Given the description of an element on the screen output the (x, y) to click on. 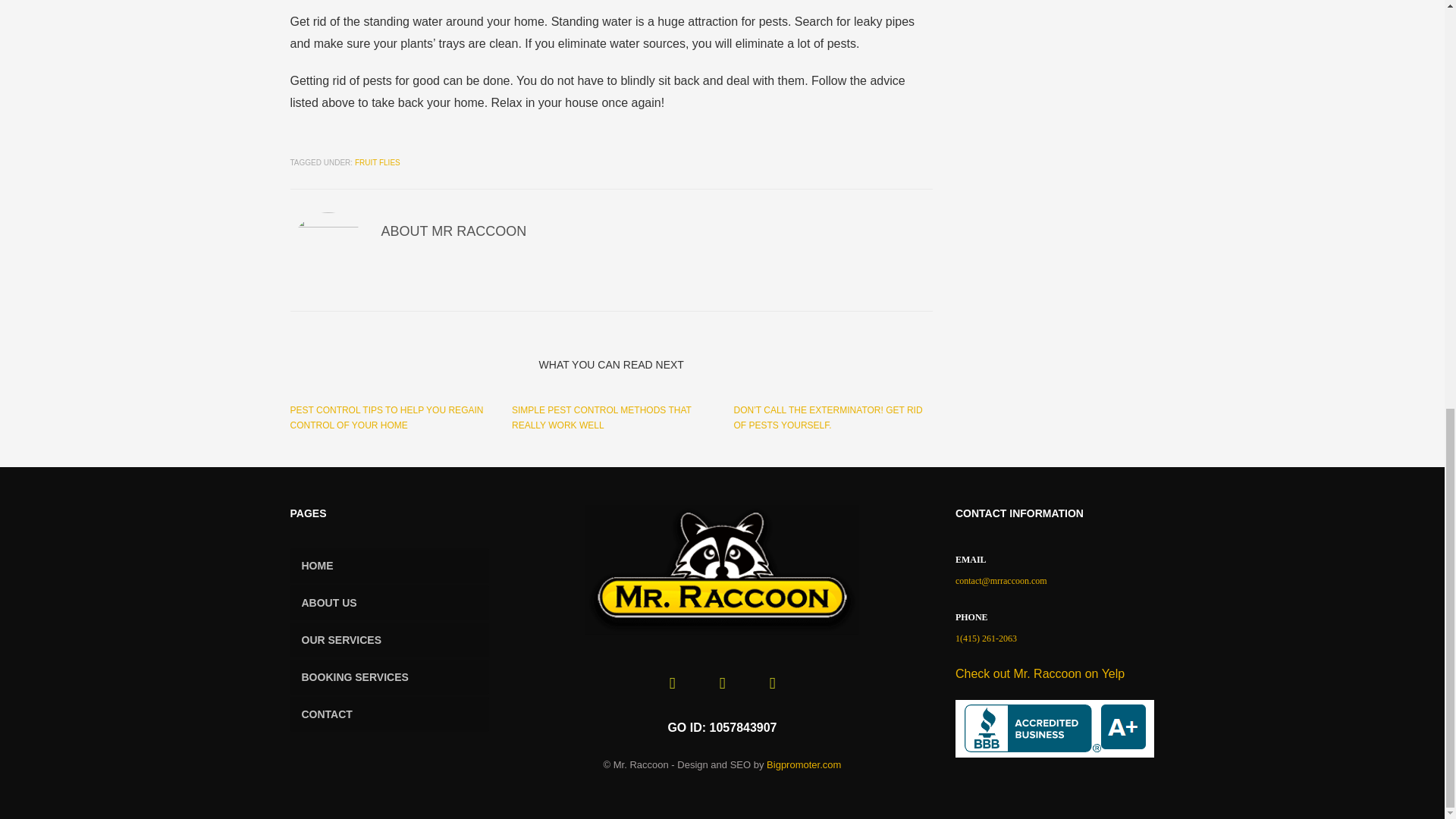
Bigpromoter.com (389, 640)
ABOUT US (804, 764)
logo (389, 602)
SIMPLE PEST CONTROL METHODS THAT REALLY WORK WELL (722, 569)
Check out Mr. Raccoon on Yelp (601, 417)
PEST CONTROL TIPS TO HELP YOU REGAIN CONTROL OF YOUR HOME (1039, 673)
HOME (386, 417)
BOOKING SERVICES (389, 565)
CONTACT (389, 677)
OUR SERVICES (389, 714)
FRUIT FLIES (389, 639)
